Given the description of an element on the screen output the (x, y) to click on. 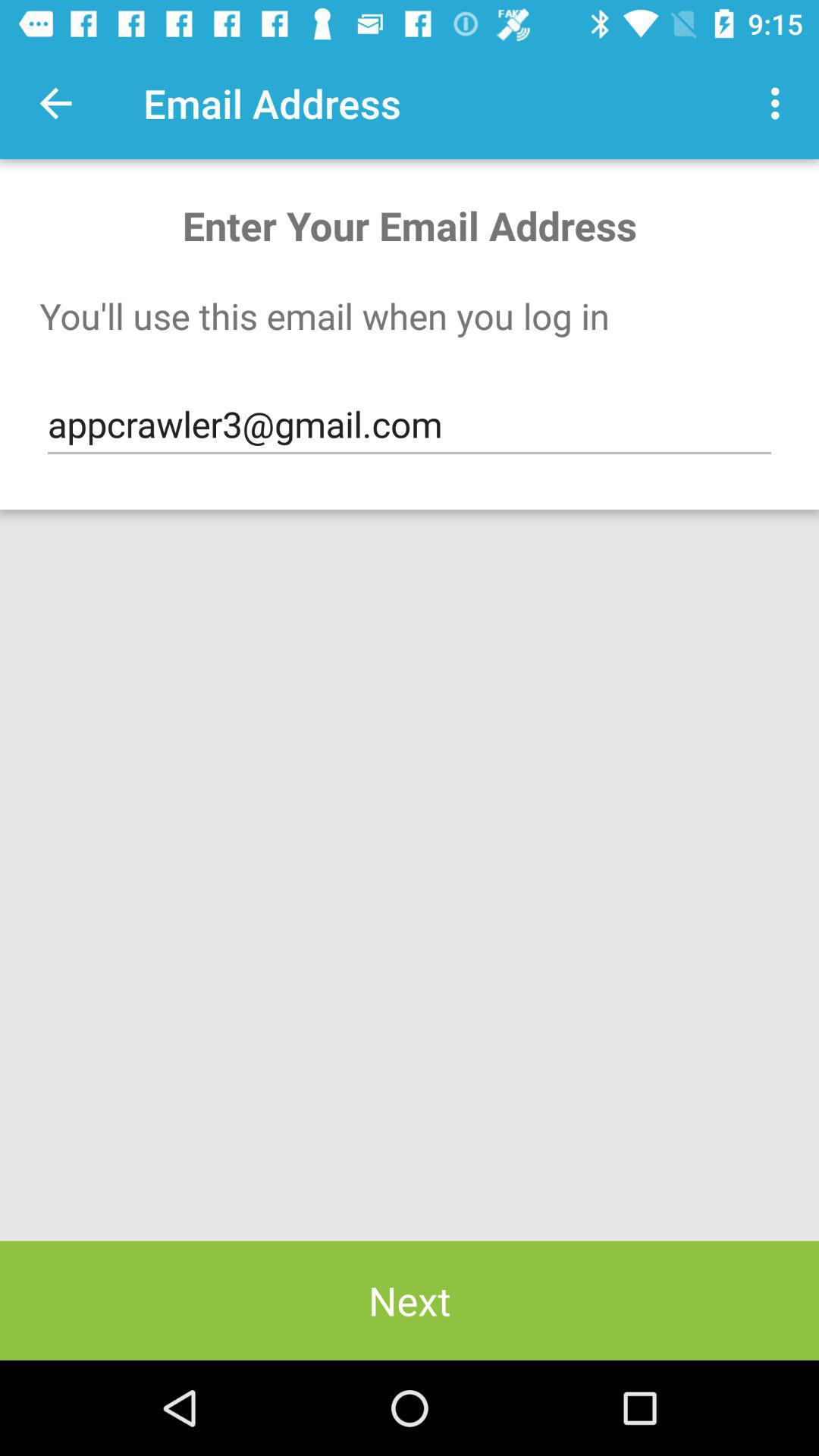
tap item below the appcrawler3@gmail.com item (409, 1300)
